Given the description of an element on the screen output the (x, y) to click on. 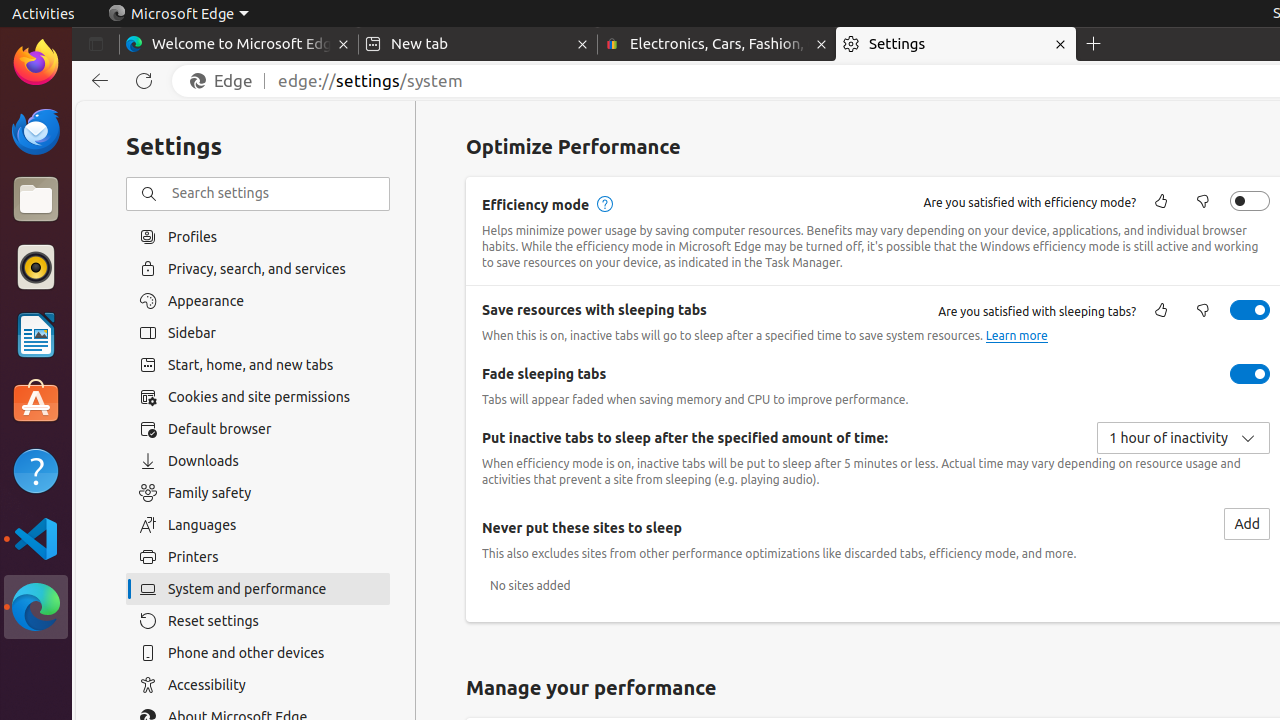
LibreOffice Writer Element type: push-button (36, 334)
Electronics, Cars, Fashion, Collectibles & More | eBay Element type: page-tab (717, 44)
Files Element type: push-button (36, 199)
Visual Studio Code Element type: push-button (36, 538)
Microsoft Edge Element type: menu (178, 13)
